Given the description of an element on the screen output the (x, y) to click on. 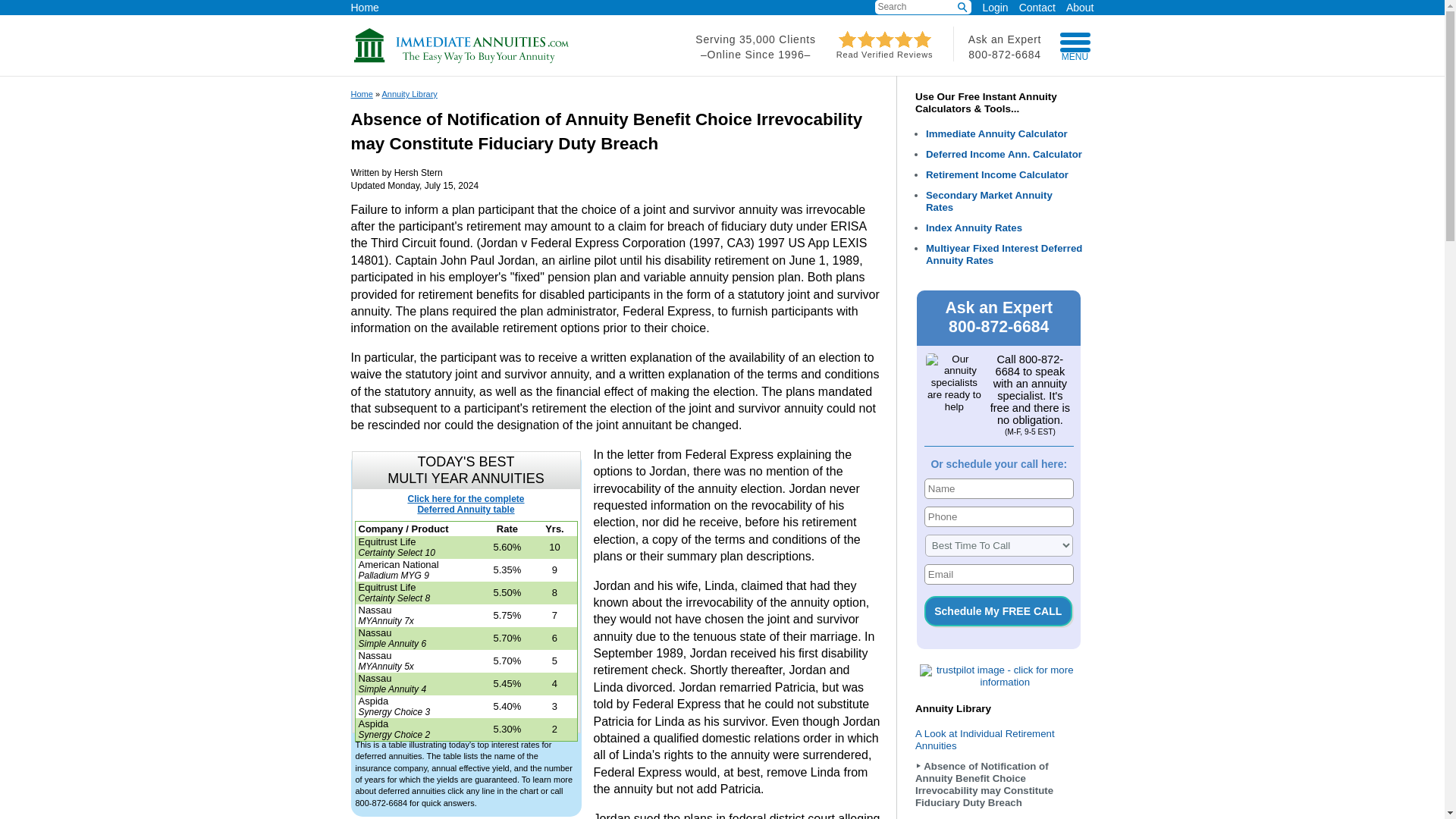
Schedule My FREE CALL (997, 611)
800-872-6684 (1004, 54)
Contact (1032, 6)
Home (364, 6)
For All Your Annuity Needs (461, 60)
Annuity Library (408, 93)
Login (994, 7)
About (1074, 6)
Read Verified Reviews (885, 49)
